Given the description of an element on the screen output the (x, y) to click on. 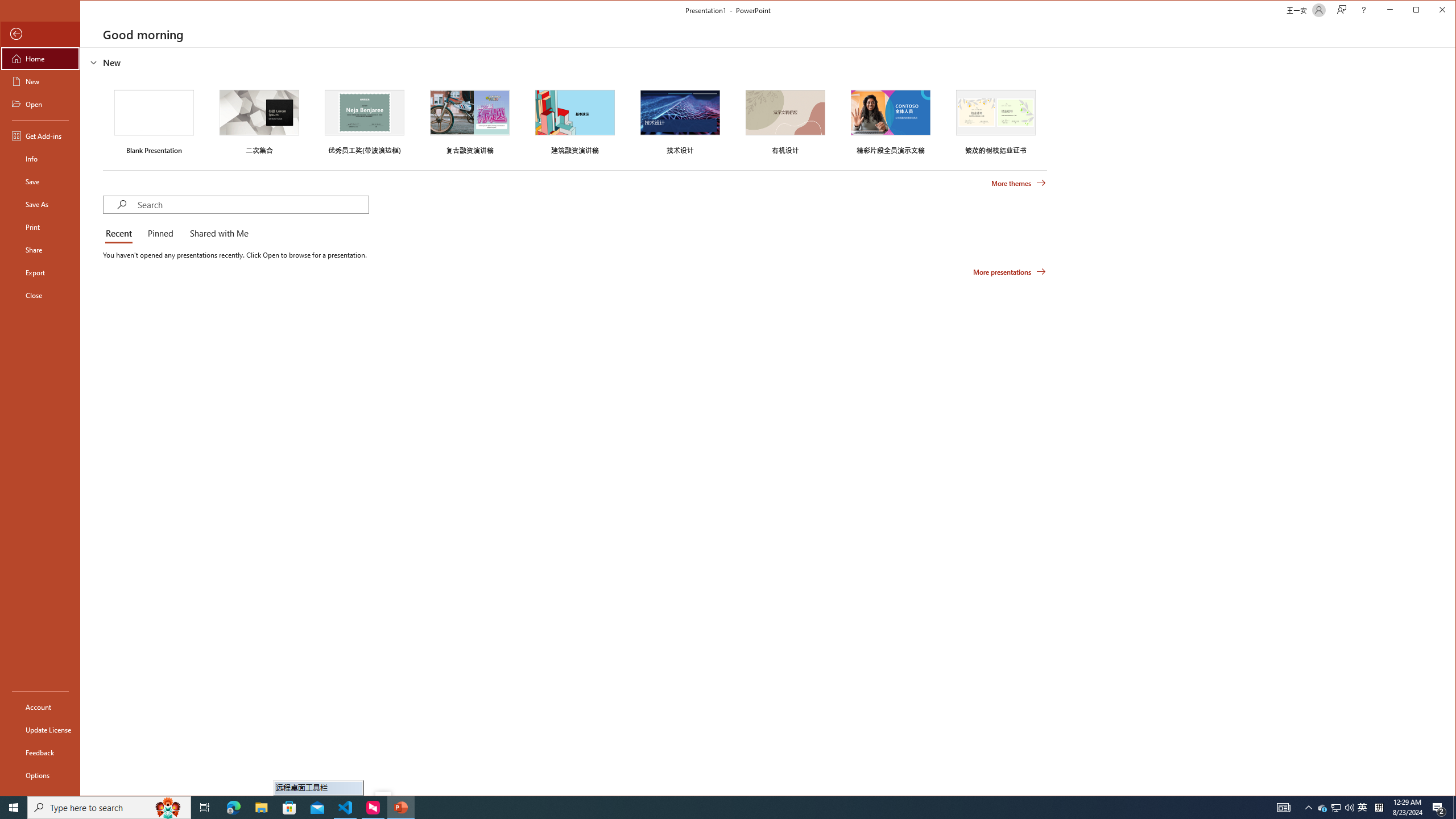
Maximize (1432, 11)
Class: NetUIScrollBar (1450, 421)
Update License (40, 729)
